Given the description of an element on the screen output the (x, y) to click on. 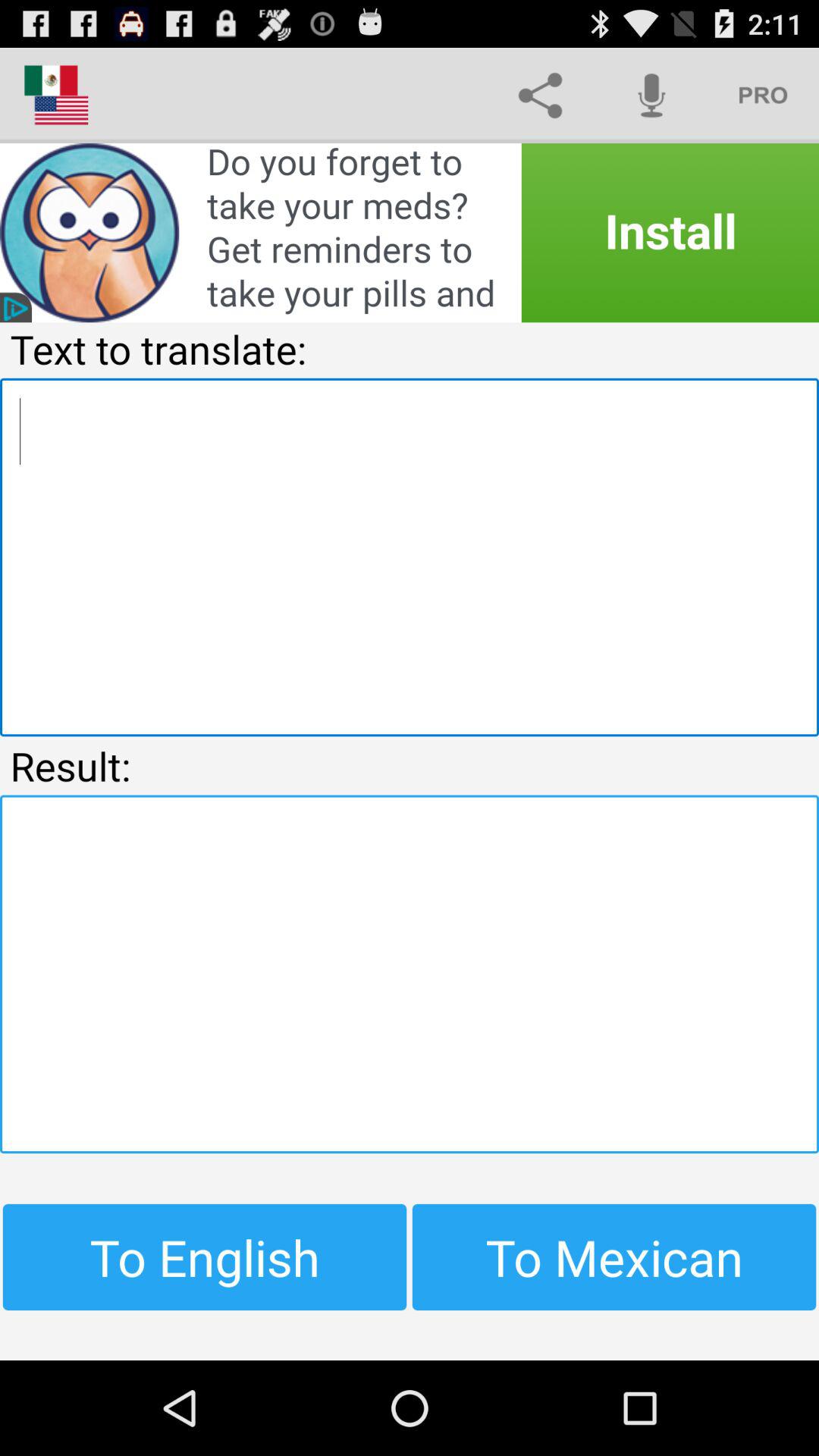
swipe until to mexican (614, 1257)
